Given the description of an element on the screen output the (x, y) to click on. 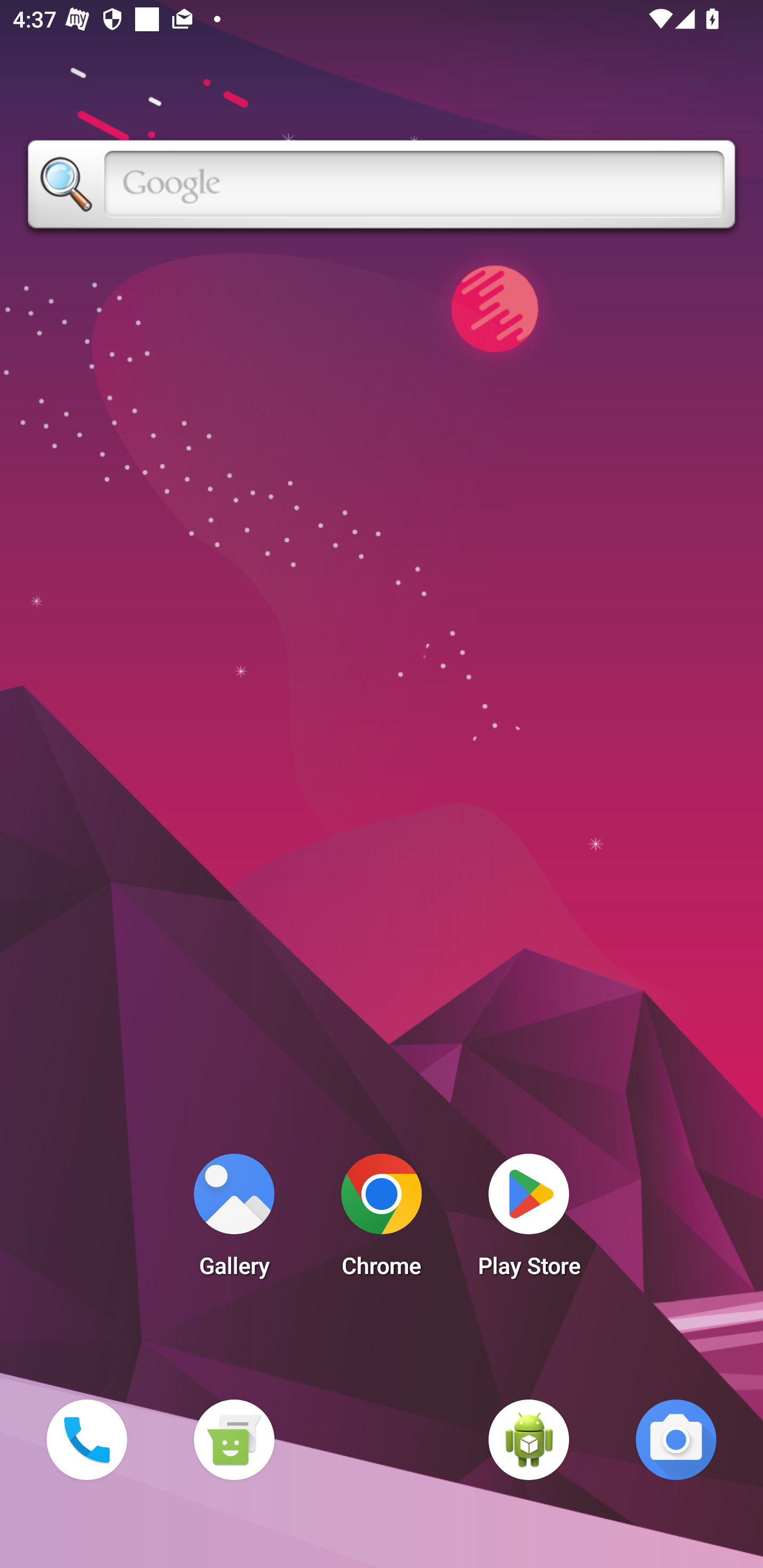
Gallery (233, 1220)
Chrome (381, 1220)
Play Store (528, 1220)
Phone (86, 1439)
Messaging (233, 1439)
WebView Browser Tester (528, 1439)
Camera (676, 1439)
